Given the description of an element on the screen output the (x, y) to click on. 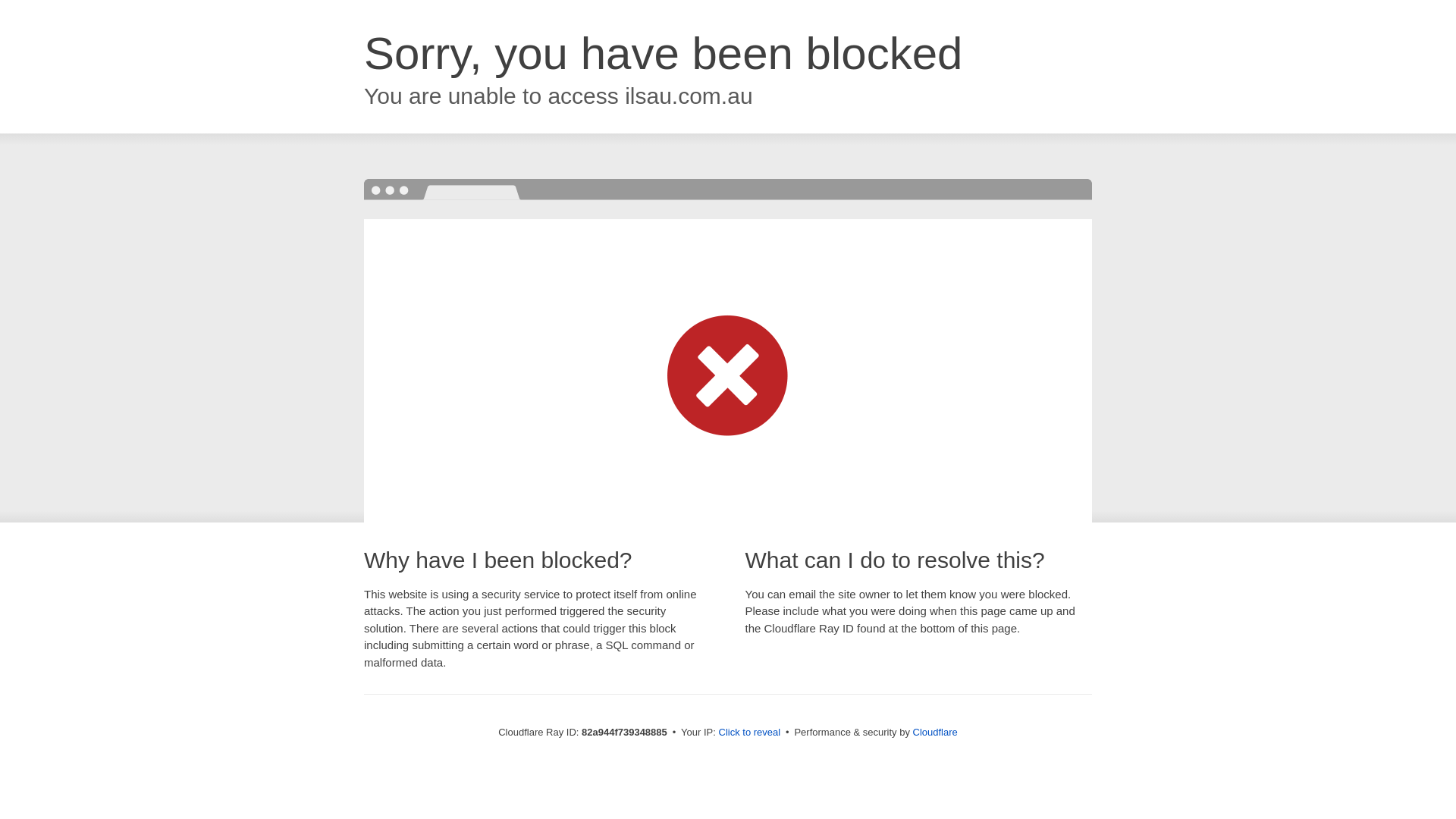
Cloudflare Element type: text (935, 731)
Click to reveal Element type: text (749, 732)
